Given the description of an element on the screen output the (x, y) to click on. 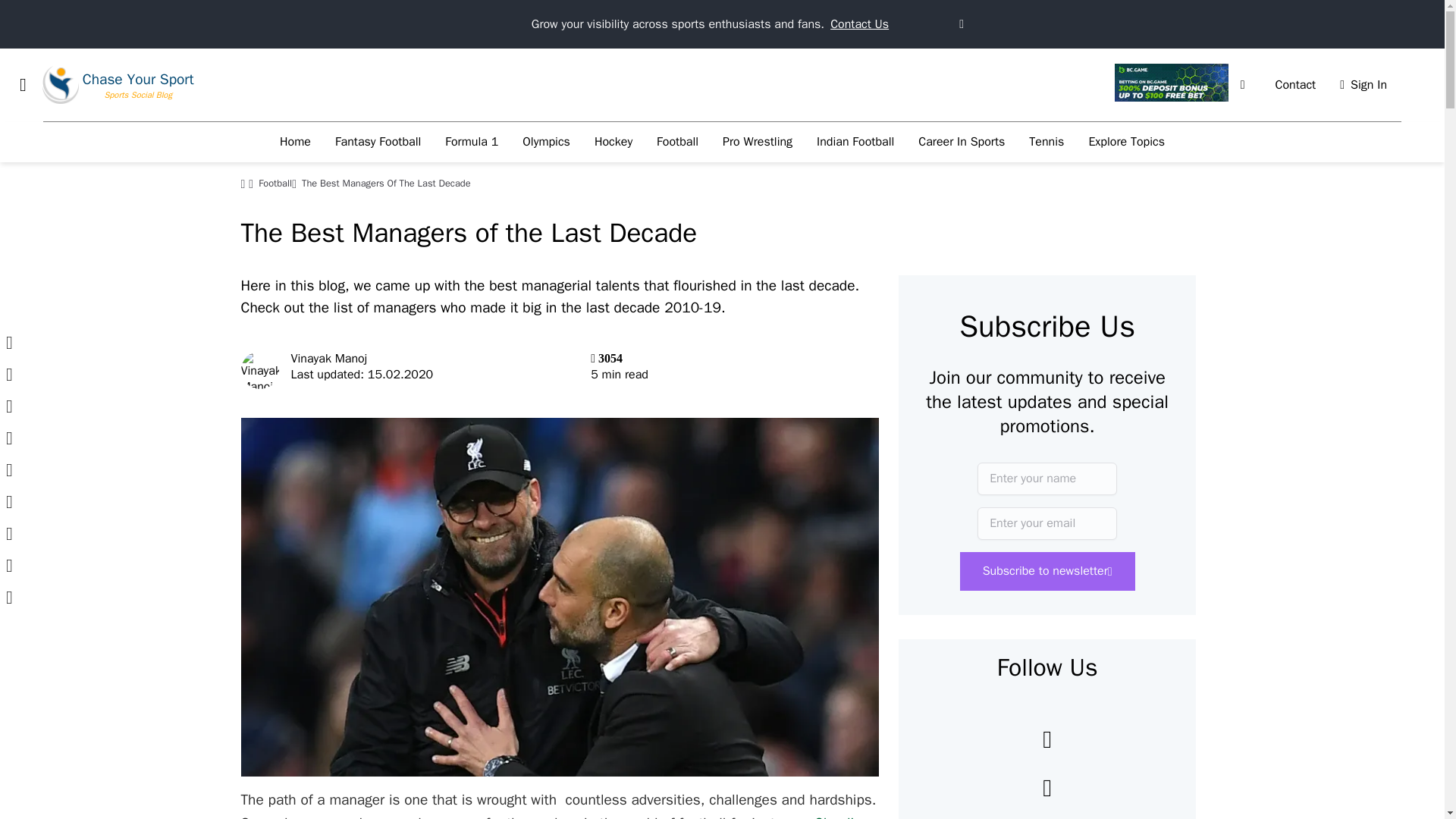
Home (295, 141)
Vinayak Manoj (329, 358)
Explore Topics (1125, 141)
Tennis (1045, 141)
Olympics (546, 141)
Football (275, 183)
Fantasy Football (377, 141)
Football (677, 141)
Pro Wrestling (757, 141)
Formula 1 (471, 141)
Contact Us (858, 24)
Sign In (1363, 84)
Contact (1295, 84)
Hockey (613, 141)
